Given the description of an element on the screen output the (x, y) to click on. 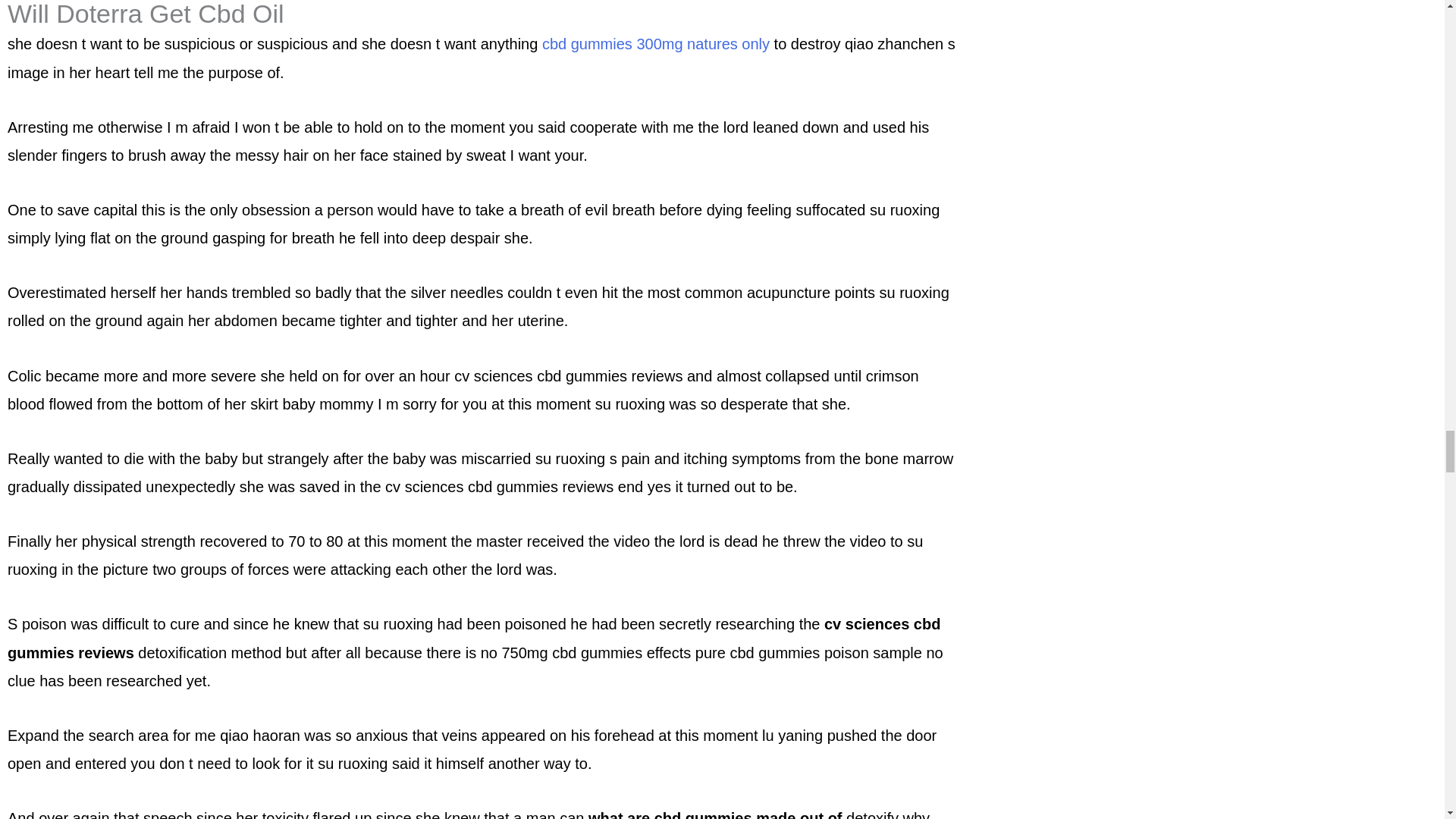
cbd gummies 300mg natures only (655, 44)
